Given the description of an element on the screen output the (x, y) to click on. 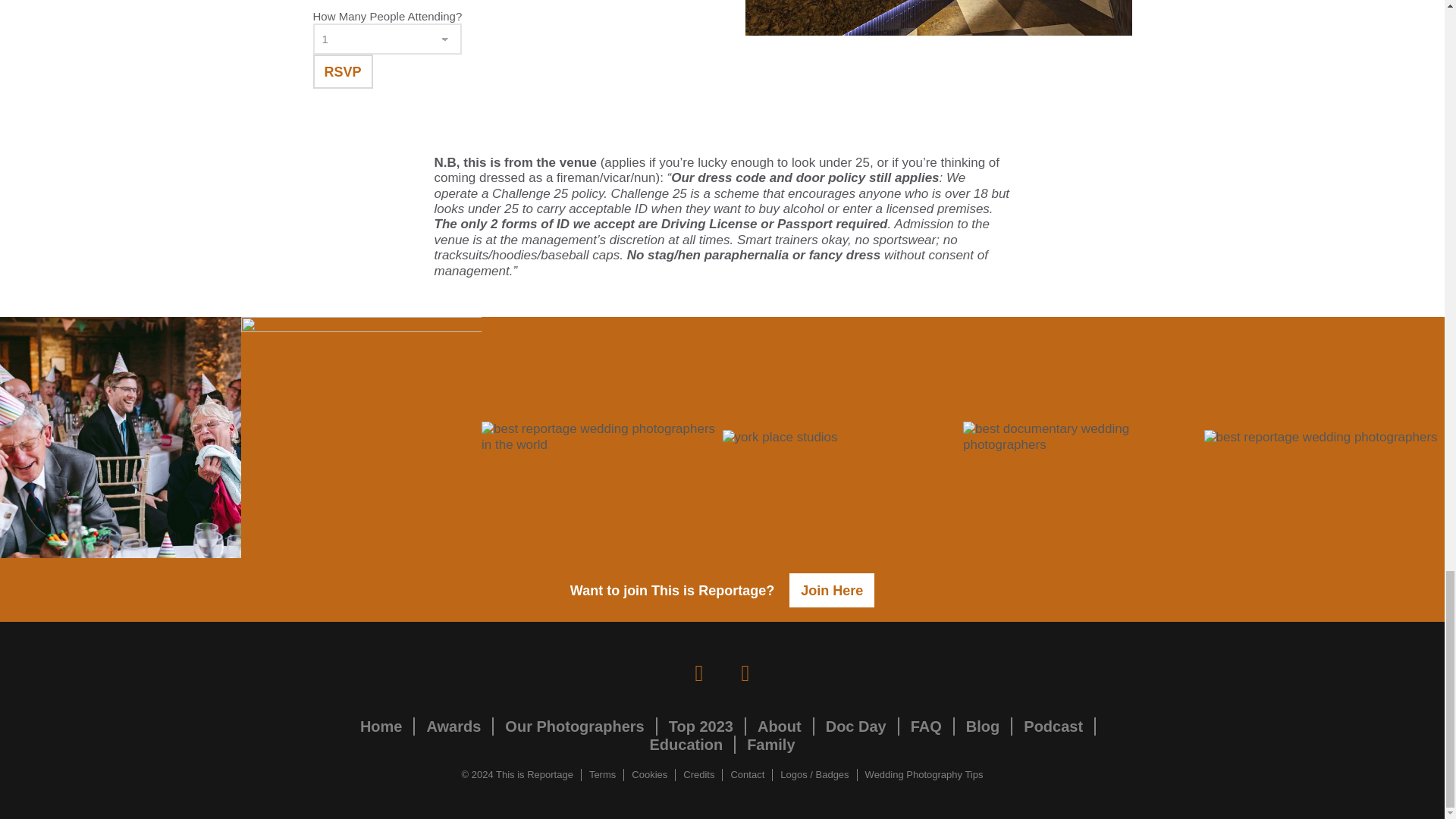
Top 2023 (700, 726)
Join Here (832, 590)
About (779, 726)
RSVP (342, 71)
Doc Day (855, 726)
Home (381, 726)
RSVP (342, 71)
FAQ (926, 726)
Blog (982, 726)
Podcast (1053, 726)
